Given the description of an element on the screen output the (x, y) to click on. 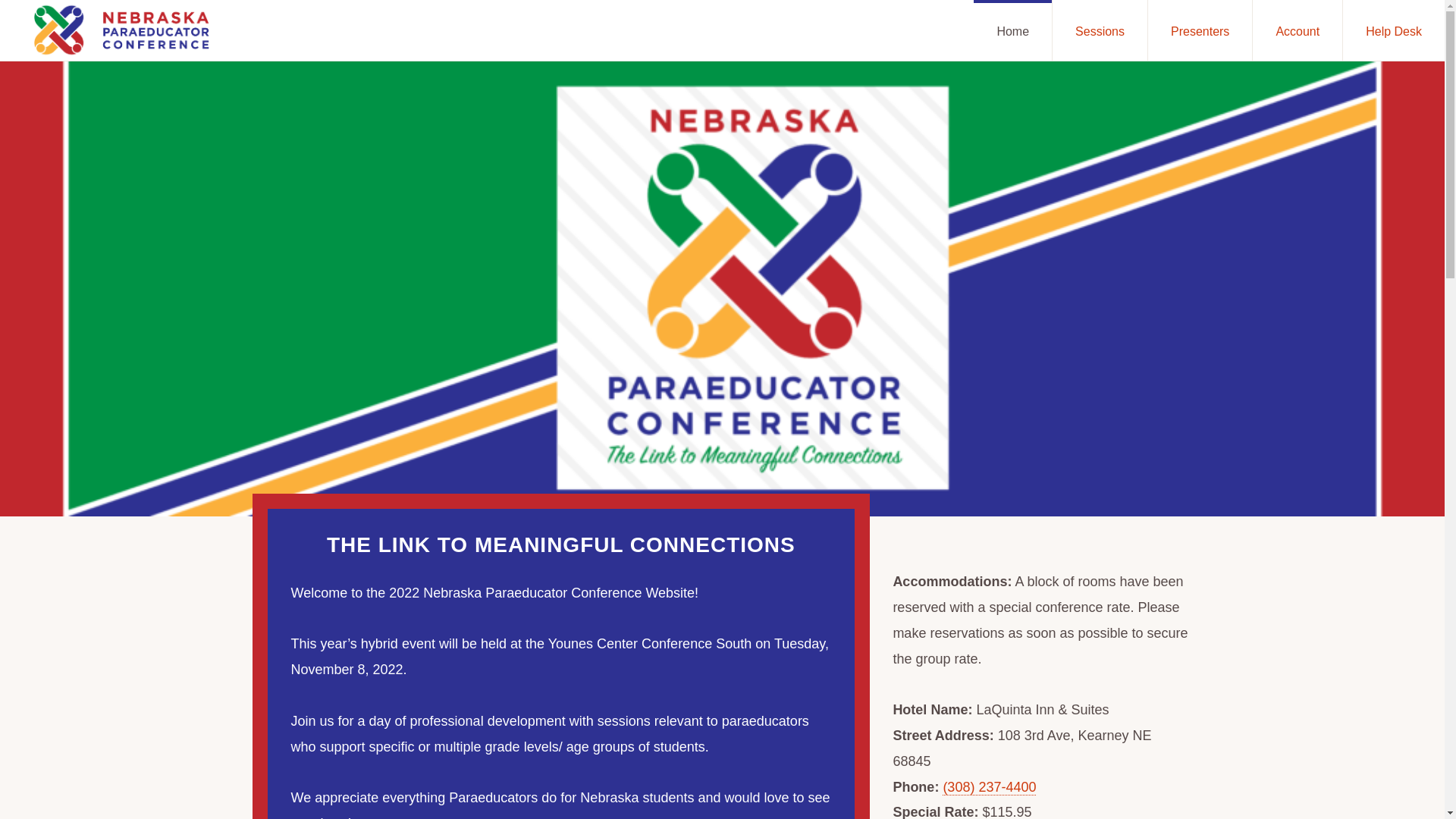
SESSION LIST (454, 775)
PRESENTERS (712, 764)
PRESENTERS (545, 775)
ACCOUNT (624, 775)
SESSIONS (586, 764)
Presenters (1200, 30)
HELP DESK (698, 775)
2022 SESSIONS (357, 775)
Home (1012, 30)
Help Desk (1393, 30)
CONTACT US (850, 764)
Account (1297, 30)
Sessions (1099, 30)
HOME (282, 775)
